Given the description of an element on the screen output the (x, y) to click on. 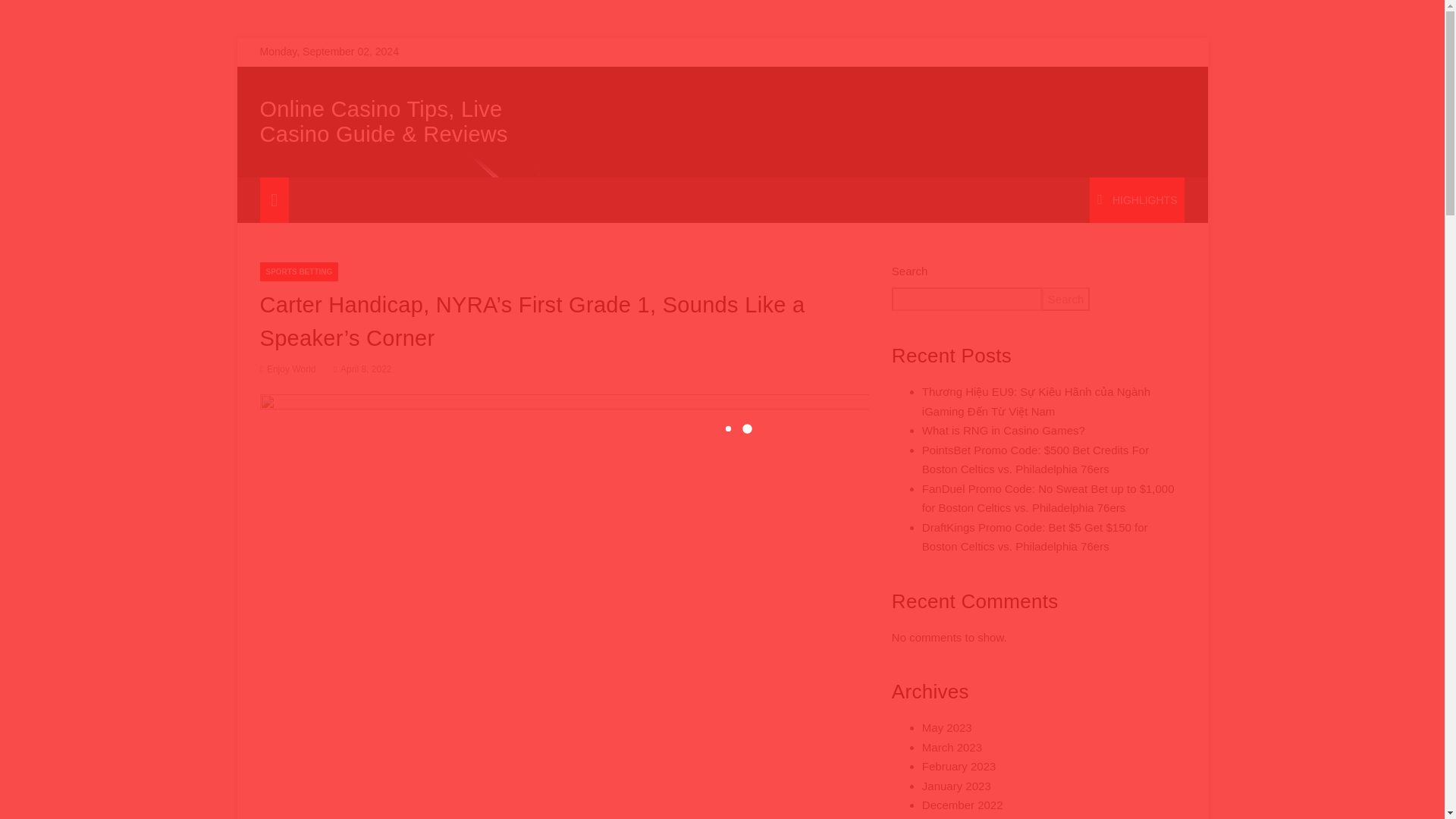
January 2023 (956, 785)
What is RNG in Casino Games? (1002, 430)
February 2023 (958, 766)
April 8, 2022 (360, 368)
March 2023 (951, 746)
Enjoy World (290, 368)
SPORTS BETTING (298, 271)
HIGHLIGHTS (1137, 199)
Search (1066, 298)
